Given the description of an element on the screen output the (x, y) to click on. 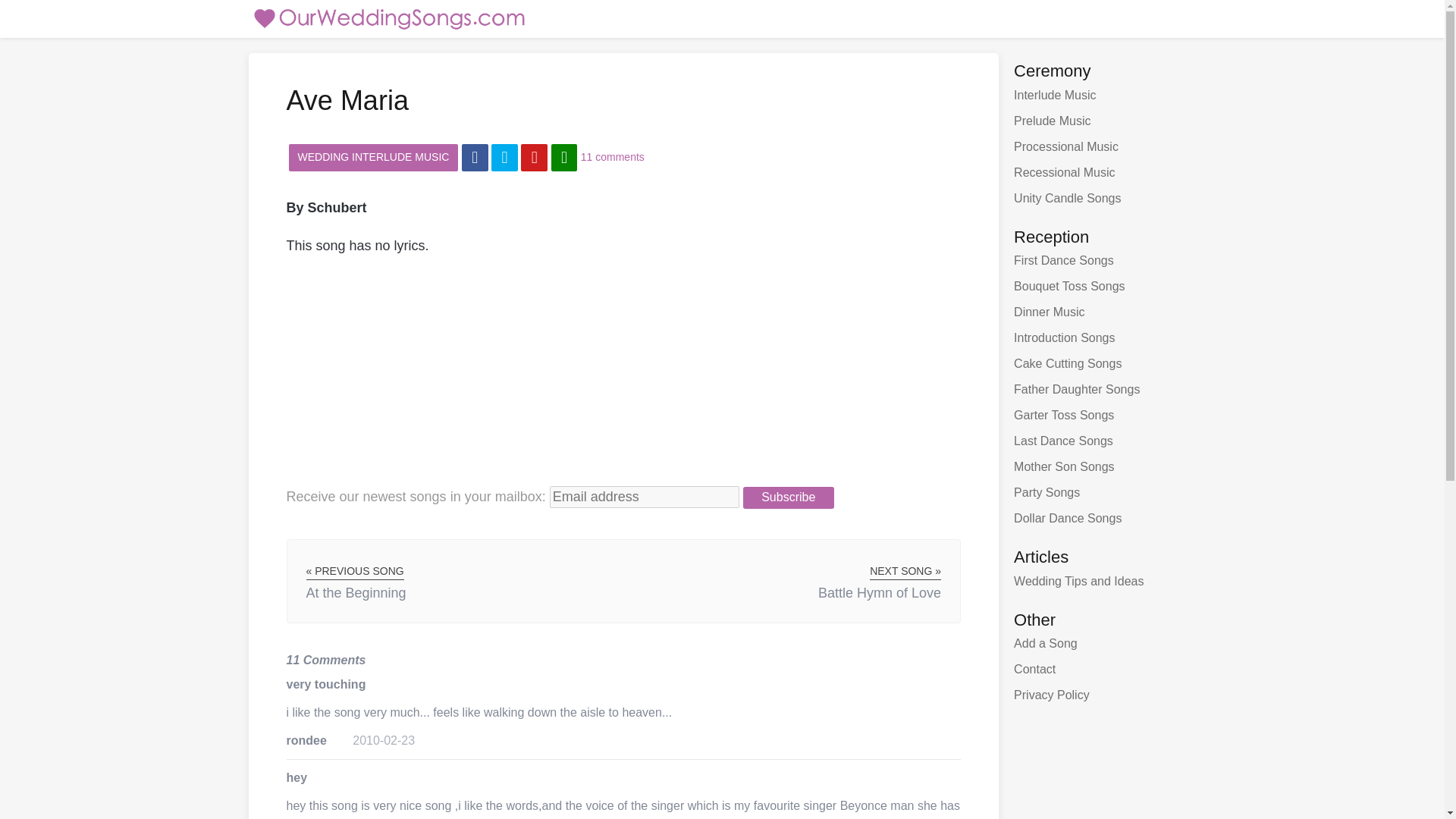
Prelude Music (1104, 121)
Unity Candle Songs (1104, 198)
Subscribe (788, 497)
Mother Son Songs (1104, 466)
Last Dance Songs (1104, 441)
Dollar Dance Songs (1104, 518)
Interlude Music (1104, 95)
Add a Song (1104, 643)
Garter Toss Songs (1104, 415)
Processional Music (1104, 146)
